Given the description of an element on the screen output the (x, y) to click on. 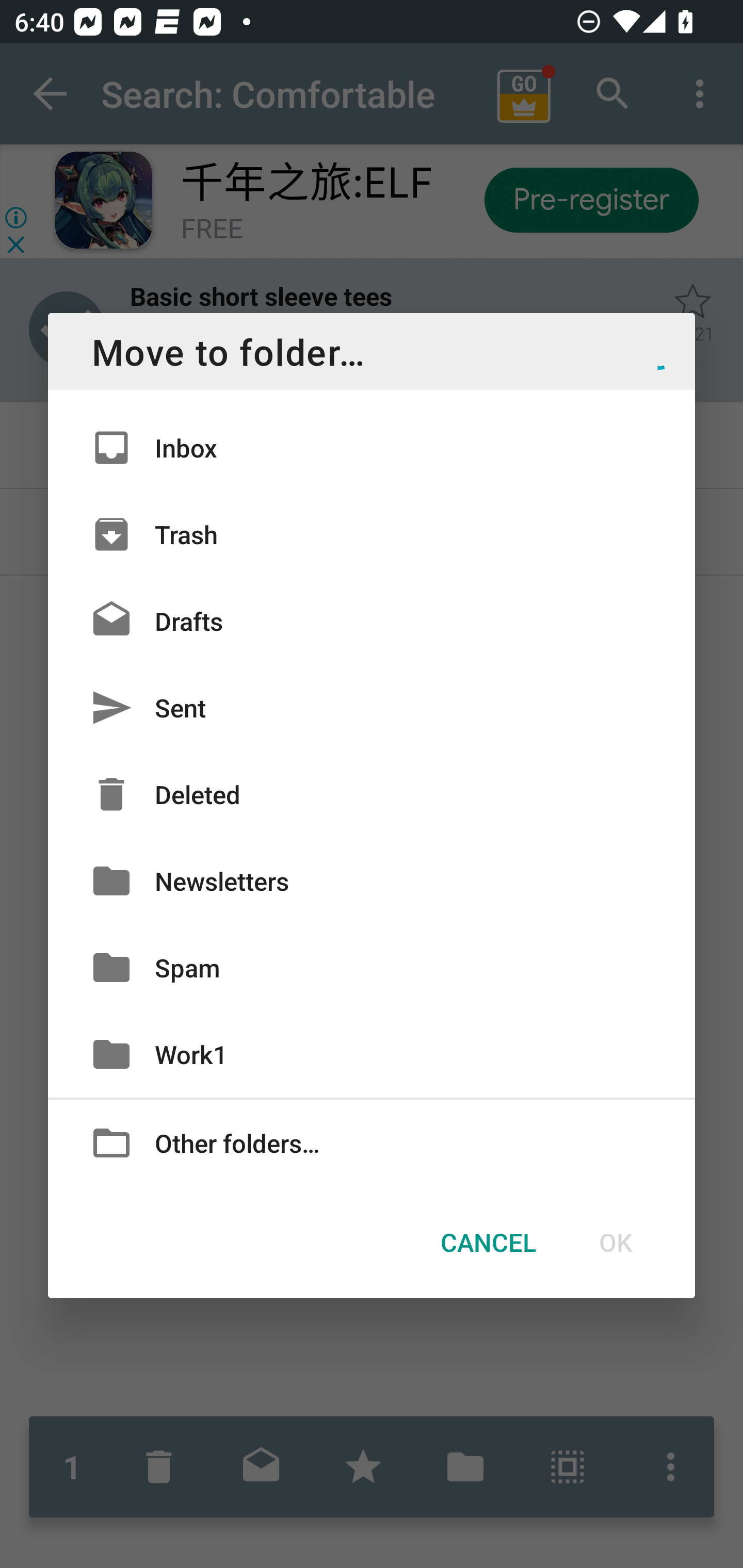
Inbox (371, 447)
Trash (371, 533)
Drafts (371, 620)
Sent (371, 707)
Deleted (371, 794)
Newsletters (371, 880)
Spam (371, 967)
Work1 (371, 1054)
Other folders… (371, 1141)
CANCEL (488, 1241)
OK (615, 1241)
